Given the description of an element on the screen output the (x, y) to click on. 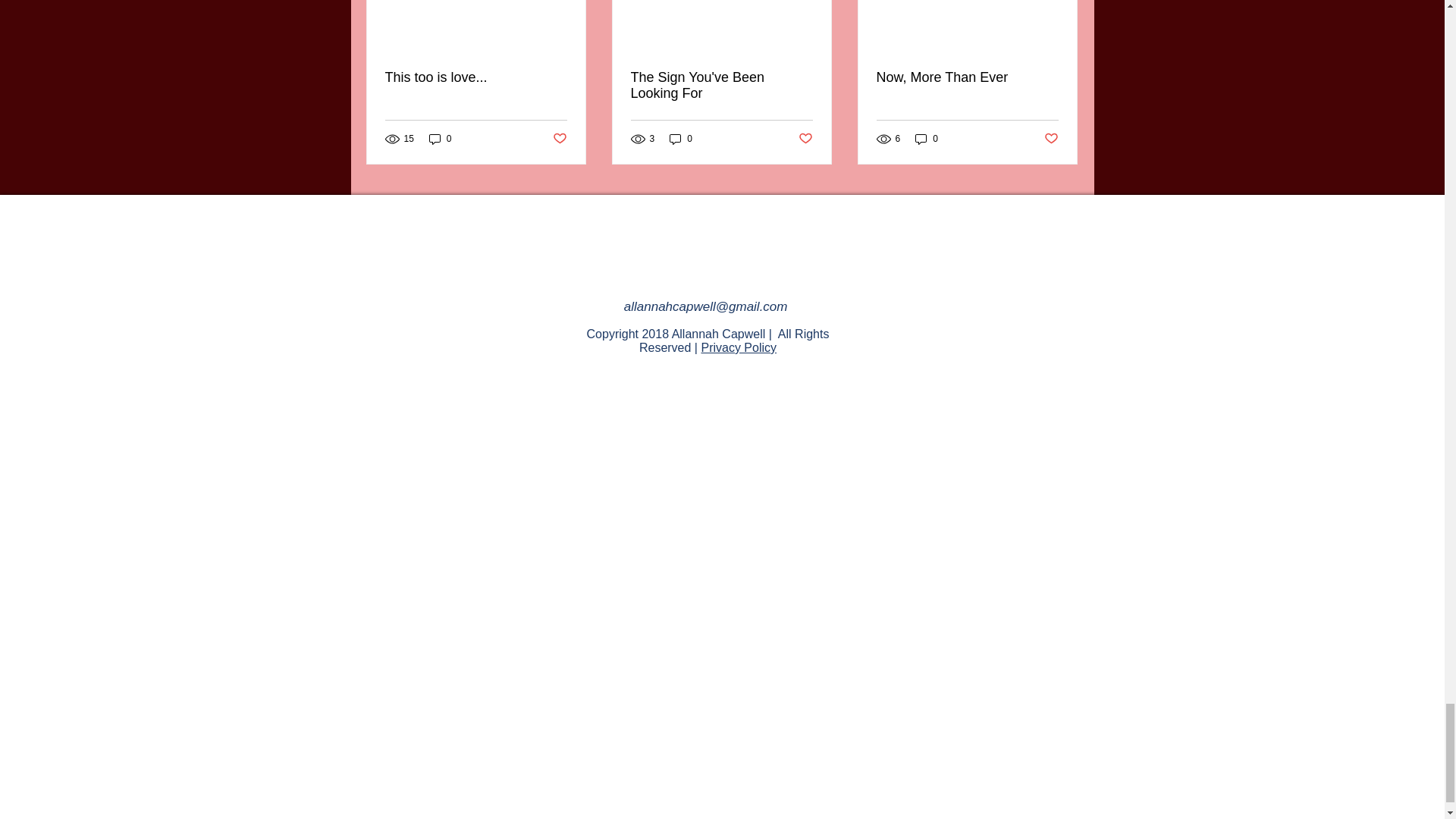
Post not marked as liked (558, 138)
0 (926, 138)
The Sign You've Been Looking For (721, 85)
Post not marked as liked (804, 138)
This too is love... (476, 77)
Now, More Than Ever (967, 77)
Post not marked as liked (1050, 138)
0 (440, 138)
0 (681, 138)
